Given the description of an element on the screen output the (x, y) to click on. 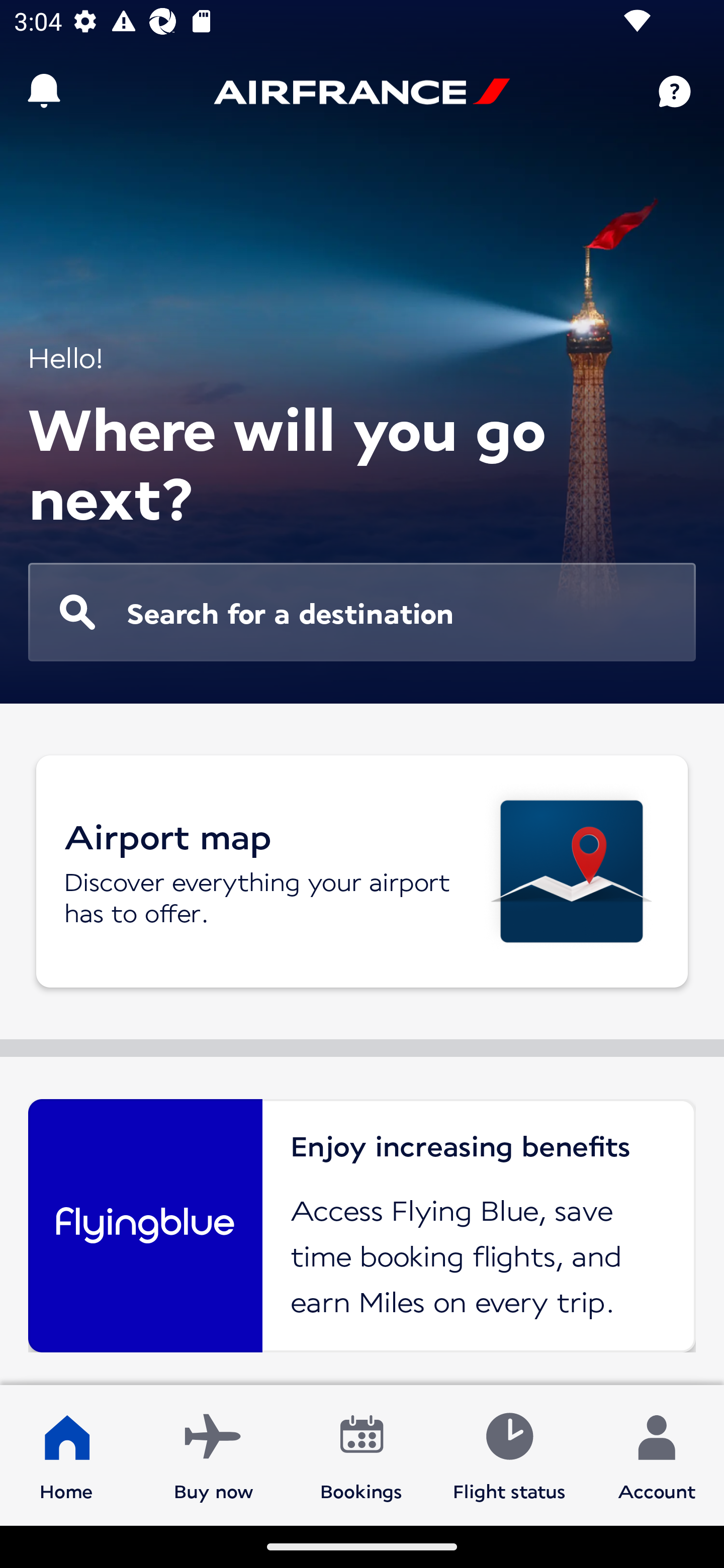
Search for a destination (361, 611)
Buy now (213, 1454)
Bookings (361, 1454)
Flight status (509, 1454)
Account (657, 1454)
